Given the description of an element on the screen output the (x, y) to click on. 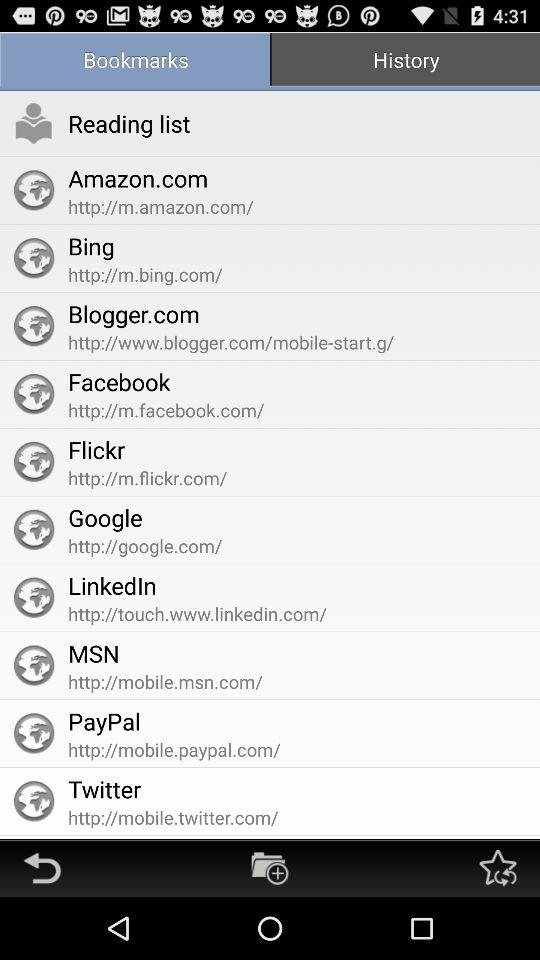
choose history icon (405, 61)
